Given the description of an element on the screen output the (x, y) to click on. 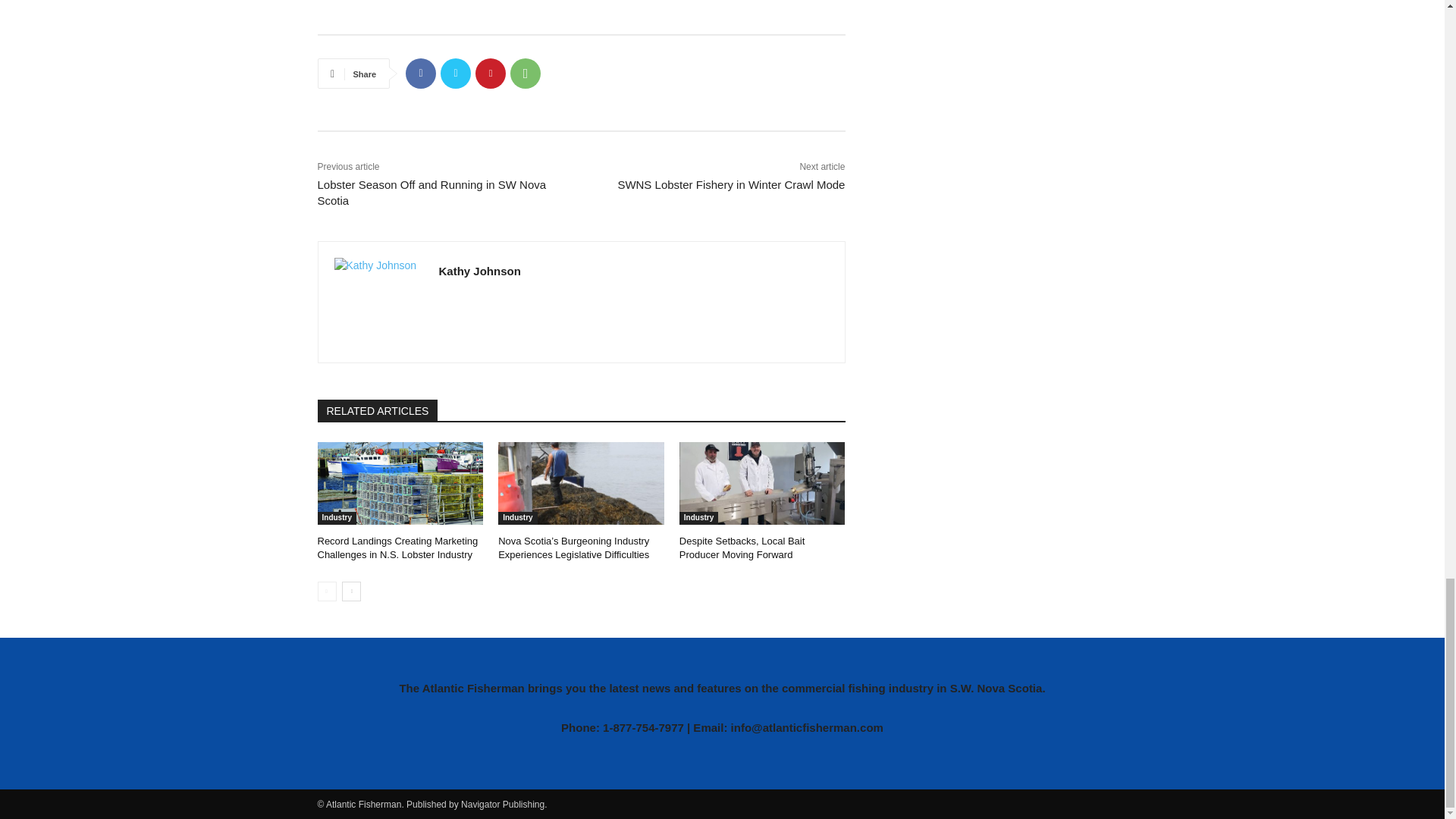
Twitter (455, 73)
Facebook (420, 73)
Pinterest (490, 73)
SWNS Lobster Fishery in Winter Crawl Mode (730, 184)
WhatsApp (525, 73)
Lobster Season Off and Running in SW Nova Scotia (431, 192)
